Given the description of an element on the screen output the (x, y) to click on. 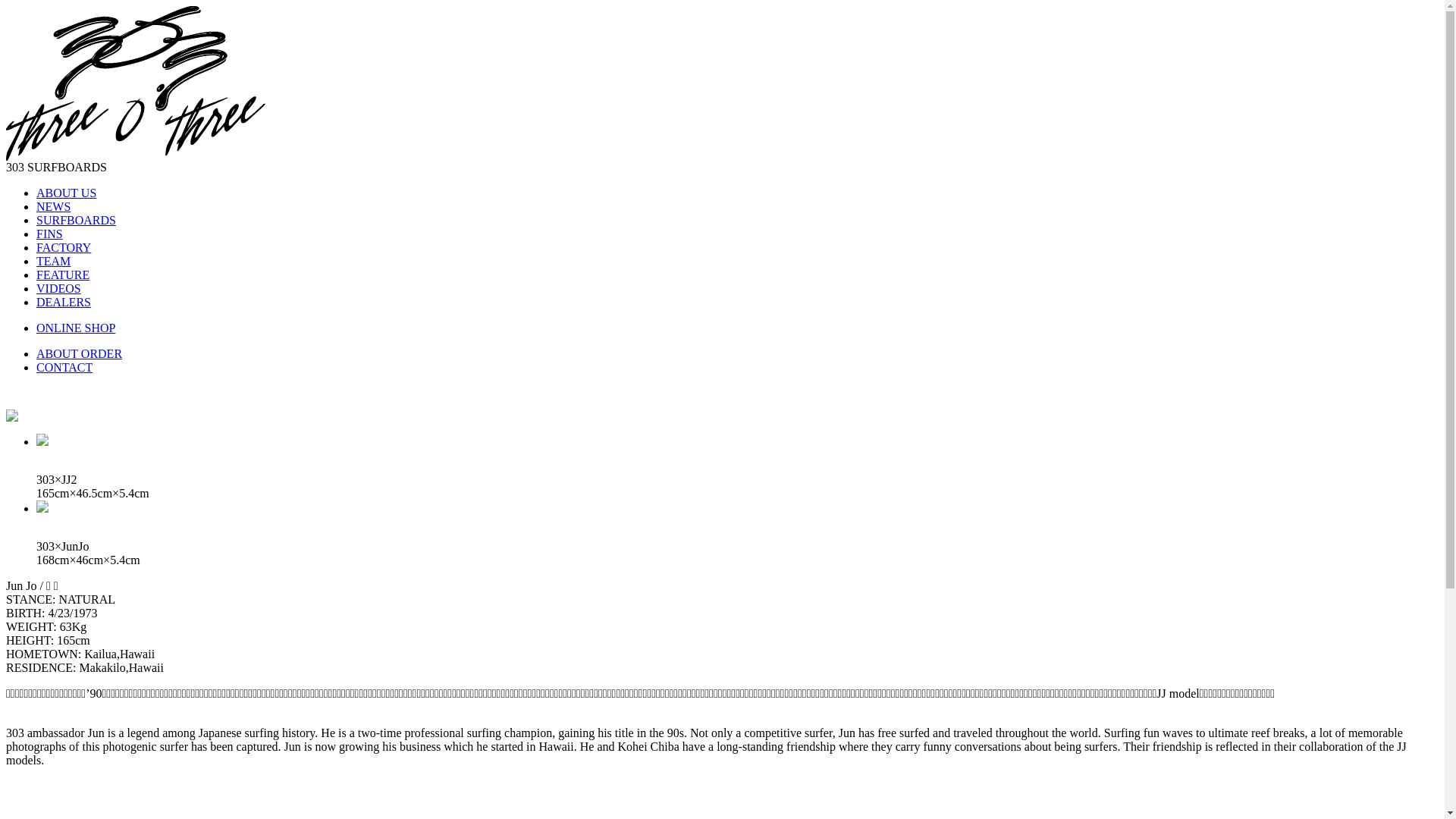
CONTACT Element type: text (64, 366)
DEALERS Element type: text (63, 301)
SURFBOARDS Element type: text (76, 219)
FEATURE Element type: text (62, 274)
FINS Element type: text (49, 233)
ABOUT ORDER Element type: text (79, 353)
FACTORY Element type: text (63, 247)
TEAM Element type: text (53, 260)
ABOUT US Element type: text (66, 192)
NEWS Element type: text (53, 206)
VIDEOS Element type: text (58, 288)
ONLINE SHOP Element type: text (75, 327)
